Given the description of an element on the screen output the (x, y) to click on. 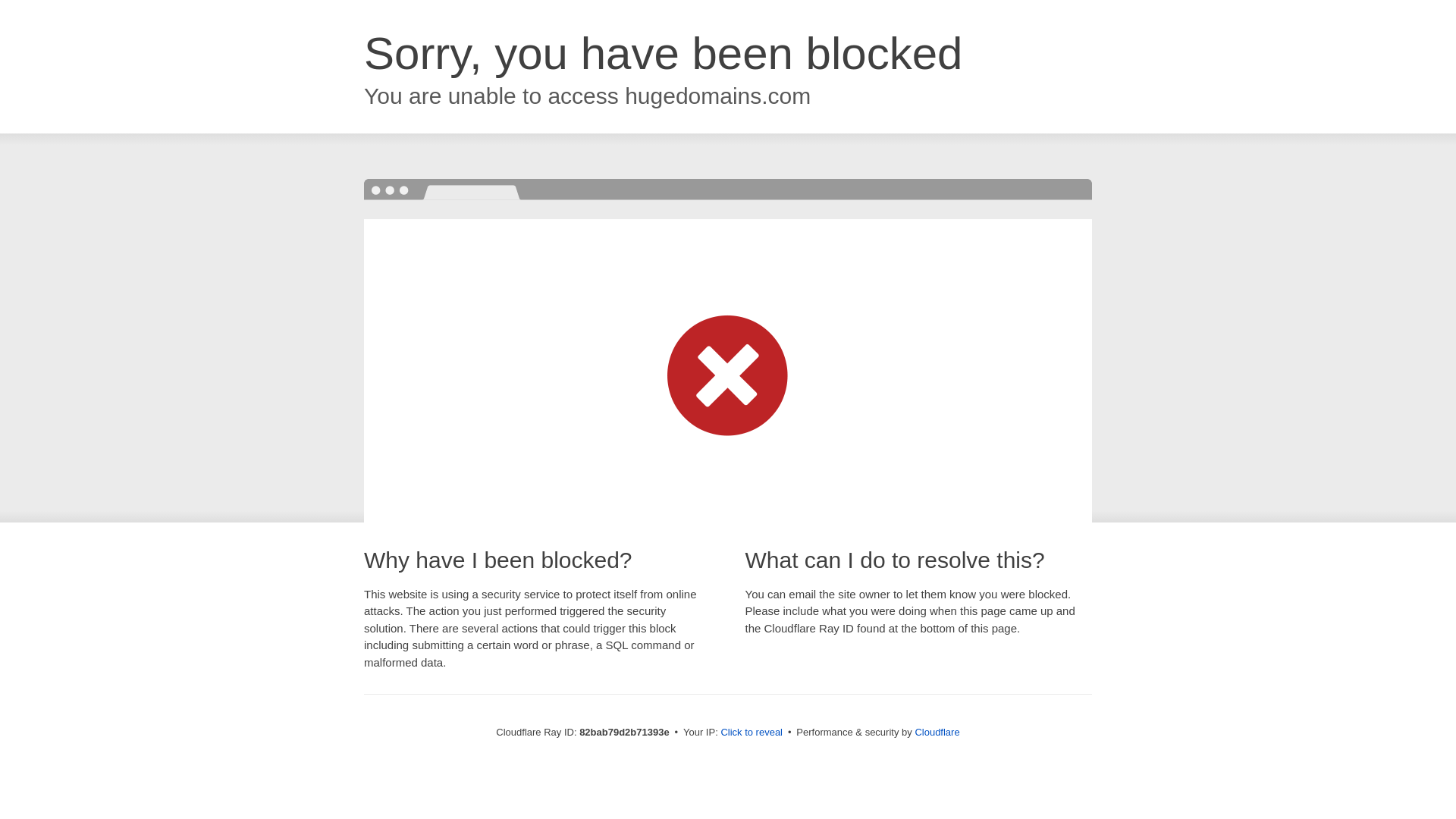
Click to reveal Element type: text (751, 732)
Cloudflare Element type: text (936, 731)
